Given the description of an element on the screen output the (x, y) to click on. 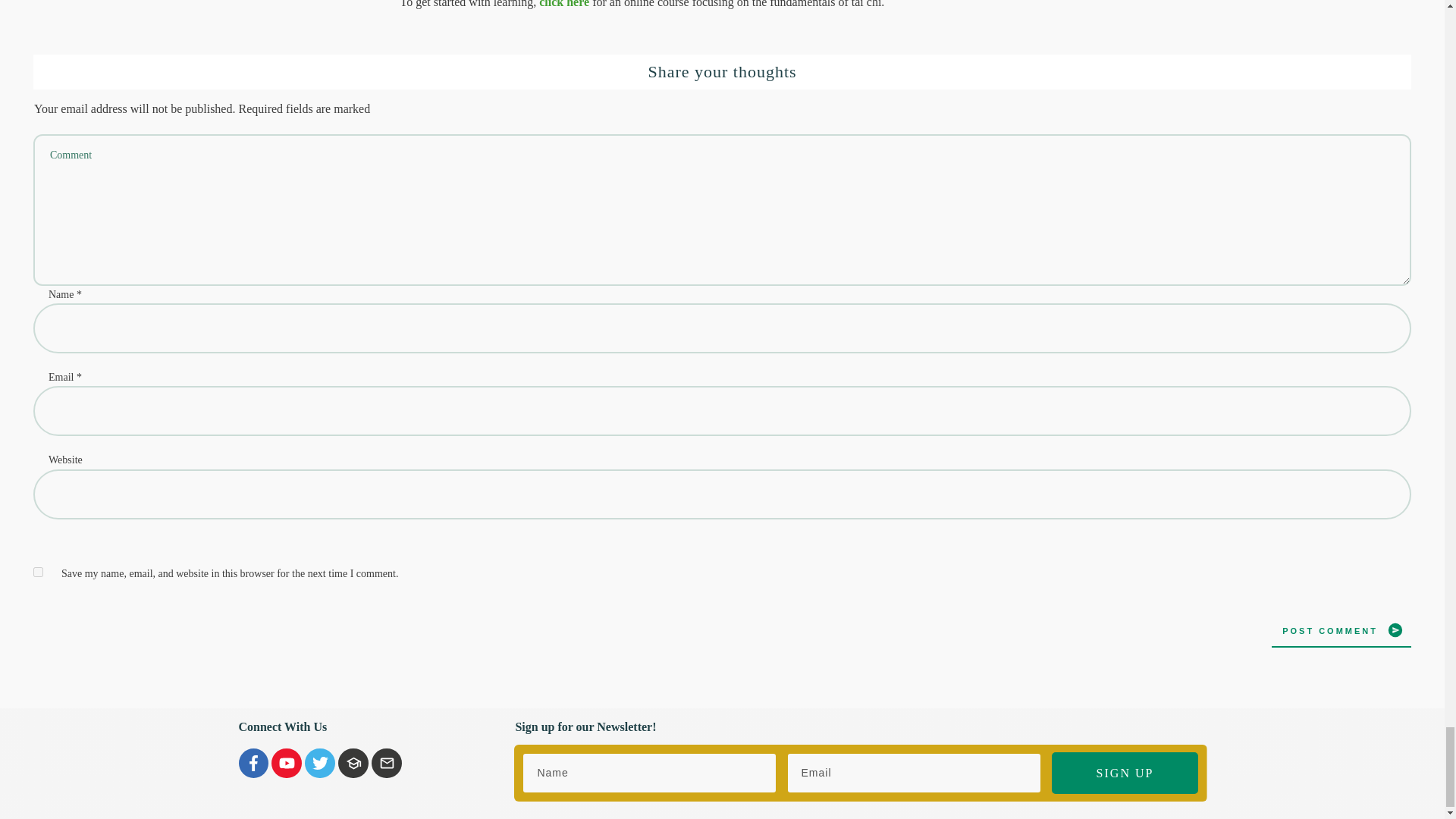
SIGN UP (1123, 772)
yes (38, 572)
click here (563, 4)
POST COMMENT (1340, 629)
